Given the description of an element on the screen output the (x, y) to click on. 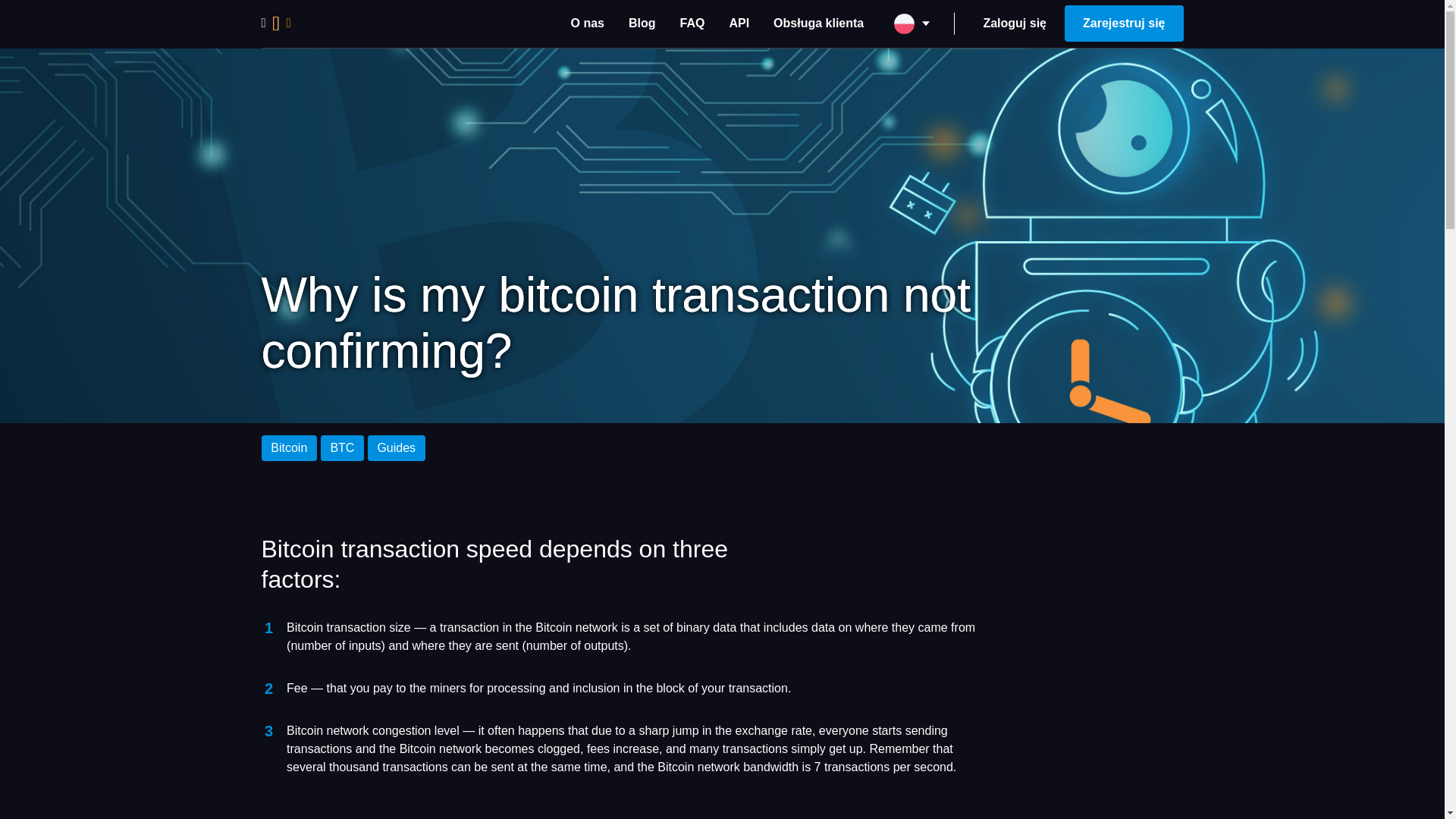
Bitcoin (288, 447)
FAQ (692, 23)
O nas (587, 23)
API (738, 23)
BTC (342, 447)
Blog (641, 23)
Guides (396, 447)
